Given the description of an element on the screen output the (x, y) to click on. 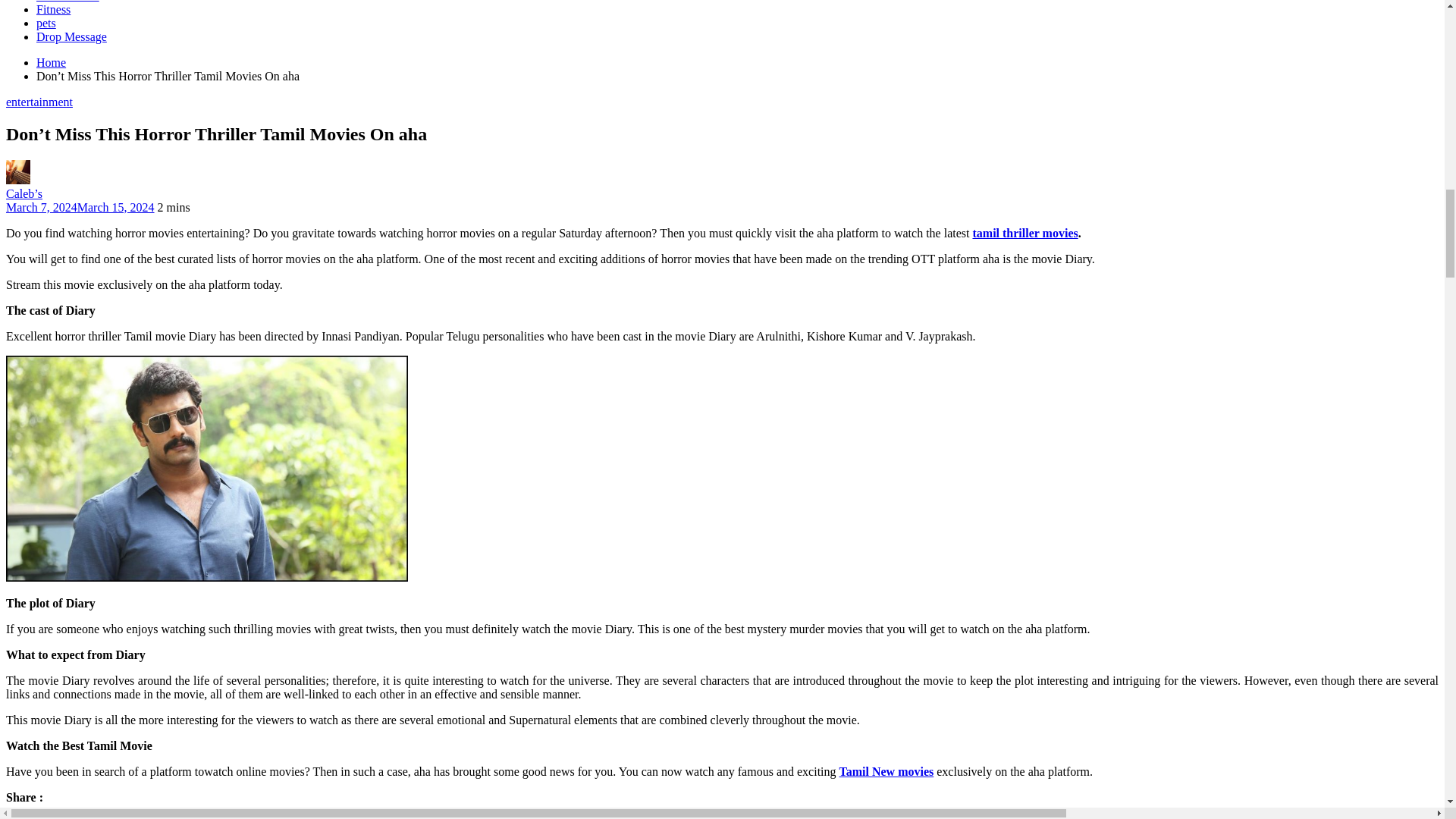
Automobiles (67, 1)
entertainment (38, 101)
pets (46, 22)
Drop Message (71, 36)
Home (50, 62)
Fitness (52, 9)
March 7, 2024March 15, 2024 (79, 206)
Tamil New movies (887, 771)
tamil thriller movies (1024, 232)
